Given the description of an element on the screen output the (x, y) to click on. 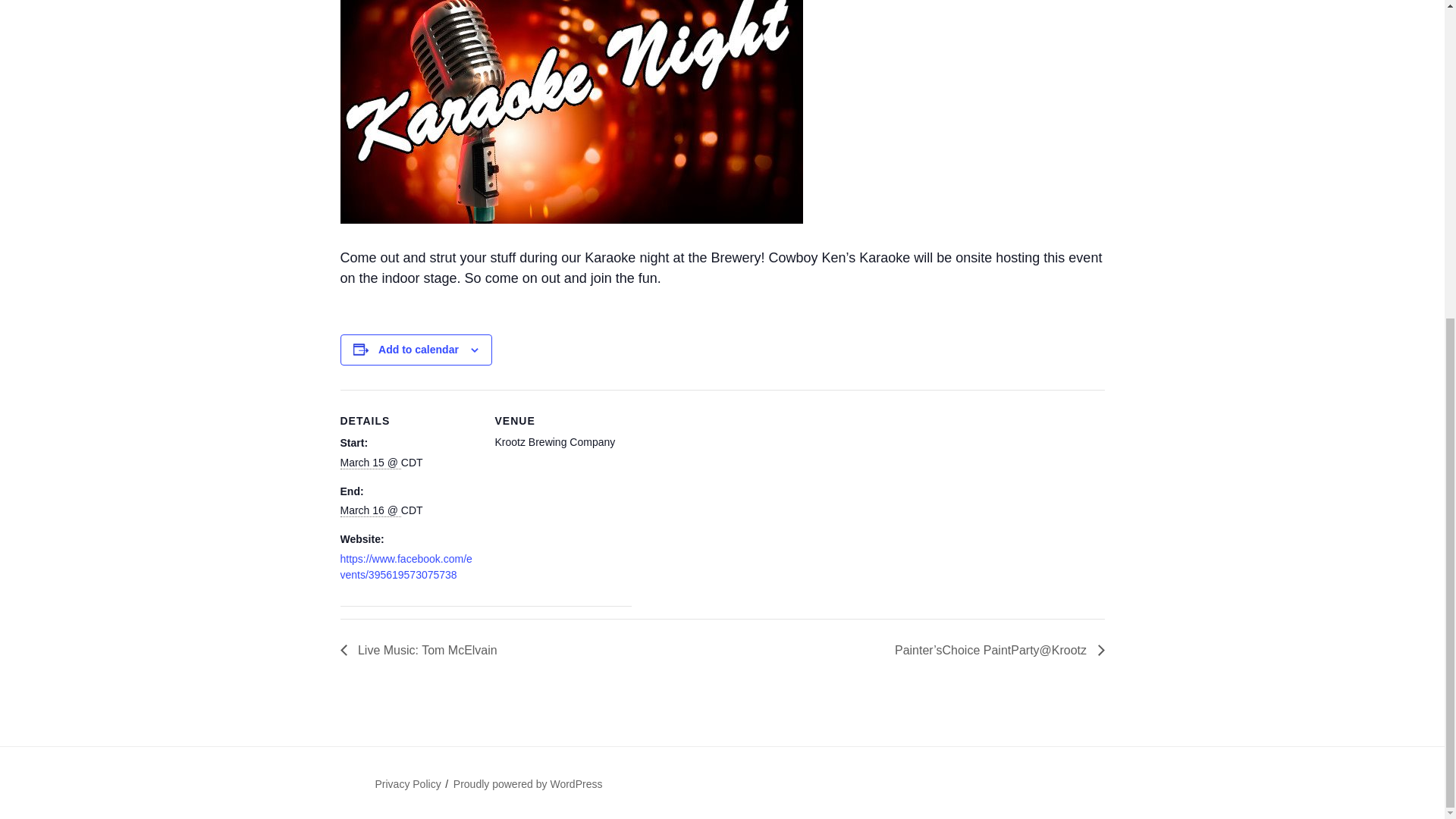
Live Music: Tom McElvain (422, 649)
2024-03-15 (369, 462)
2024-03-16 (369, 510)
Proudly powered by WordPress (527, 784)
Privacy Policy (407, 784)
Add to calendar (418, 349)
